Given the description of an element on the screen output the (x, y) to click on. 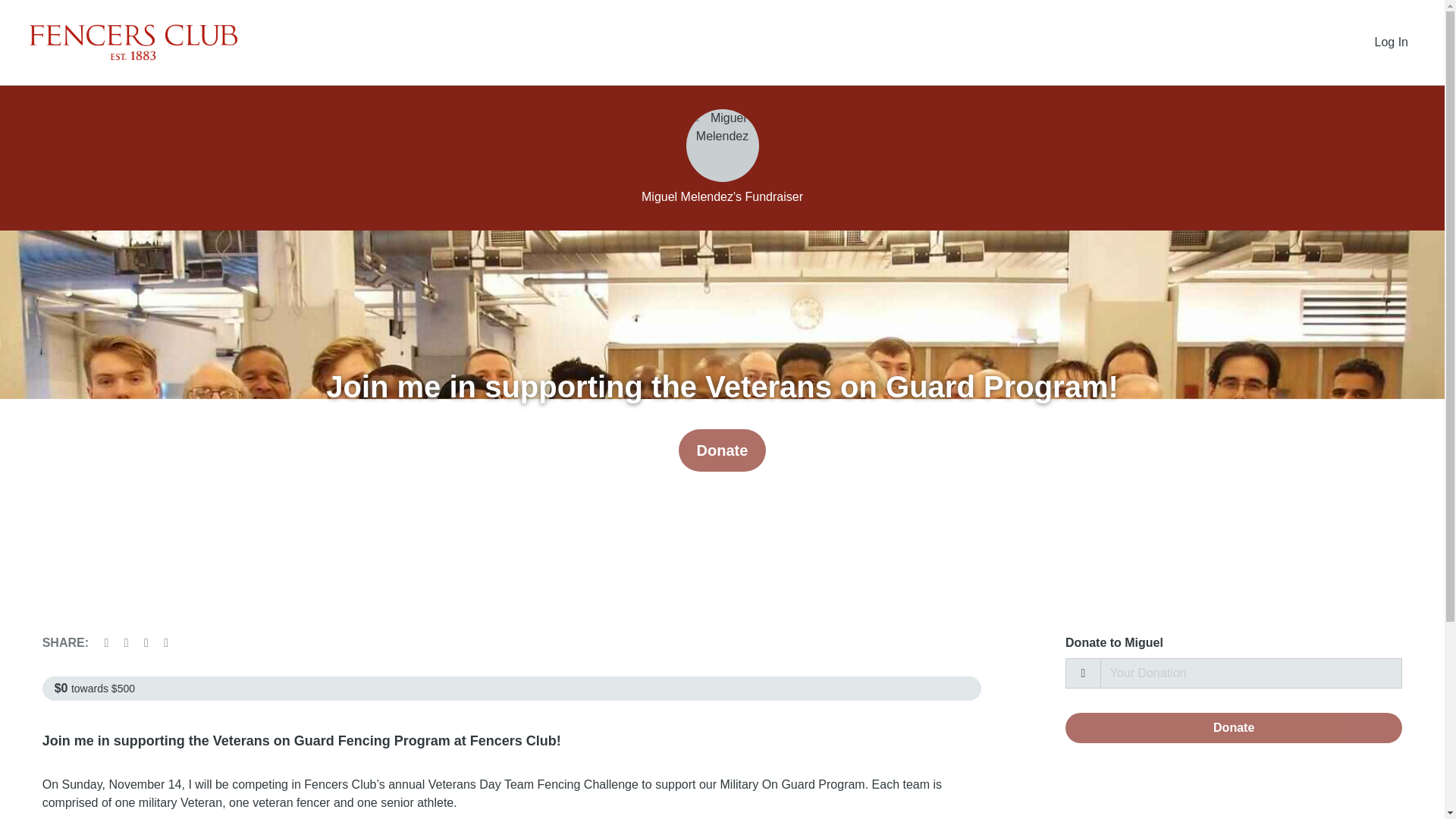
Log In (1391, 42)
Donate (1233, 727)
Donate (722, 450)
